Given the description of an element on the screen output the (x, y) to click on. 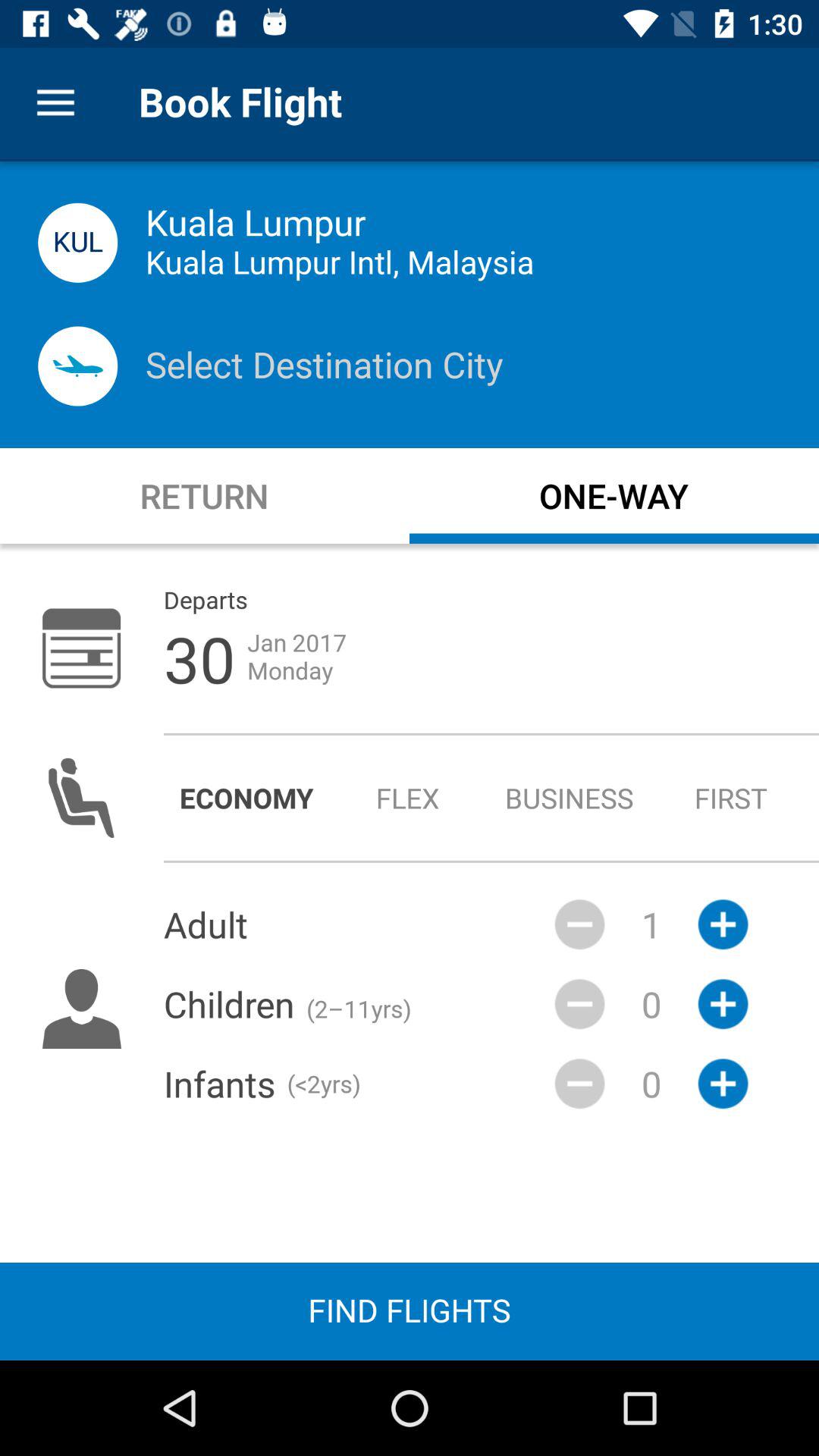
turn off item next to the business icon (407, 797)
